Given the description of an element on the screen output the (x, y) to click on. 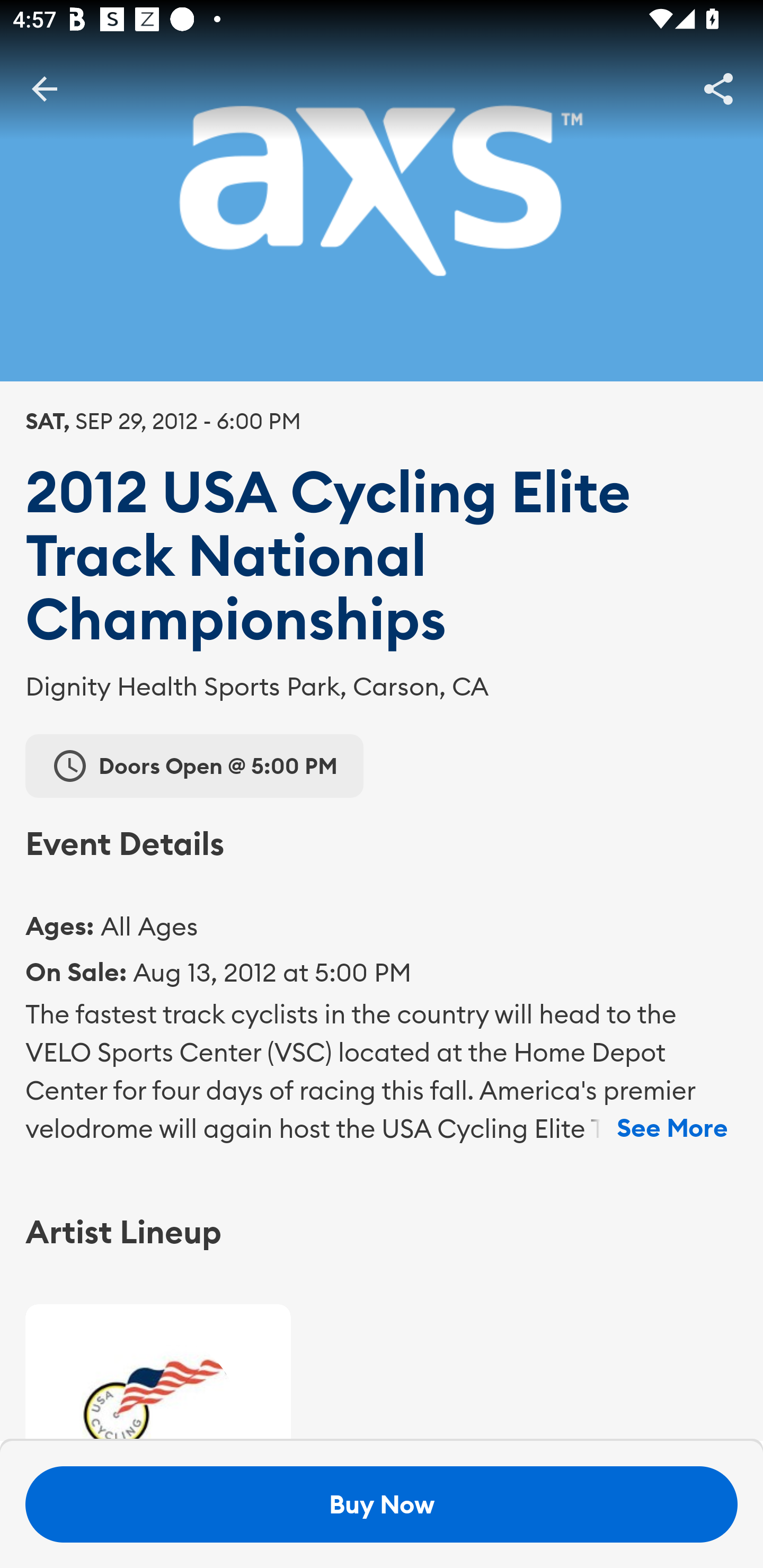
BackButton (44, 88)
Share (718, 88)
See More (671, 1127)
Buy Now (381, 1504)
